Given the description of an element on the screen output the (x, y) to click on. 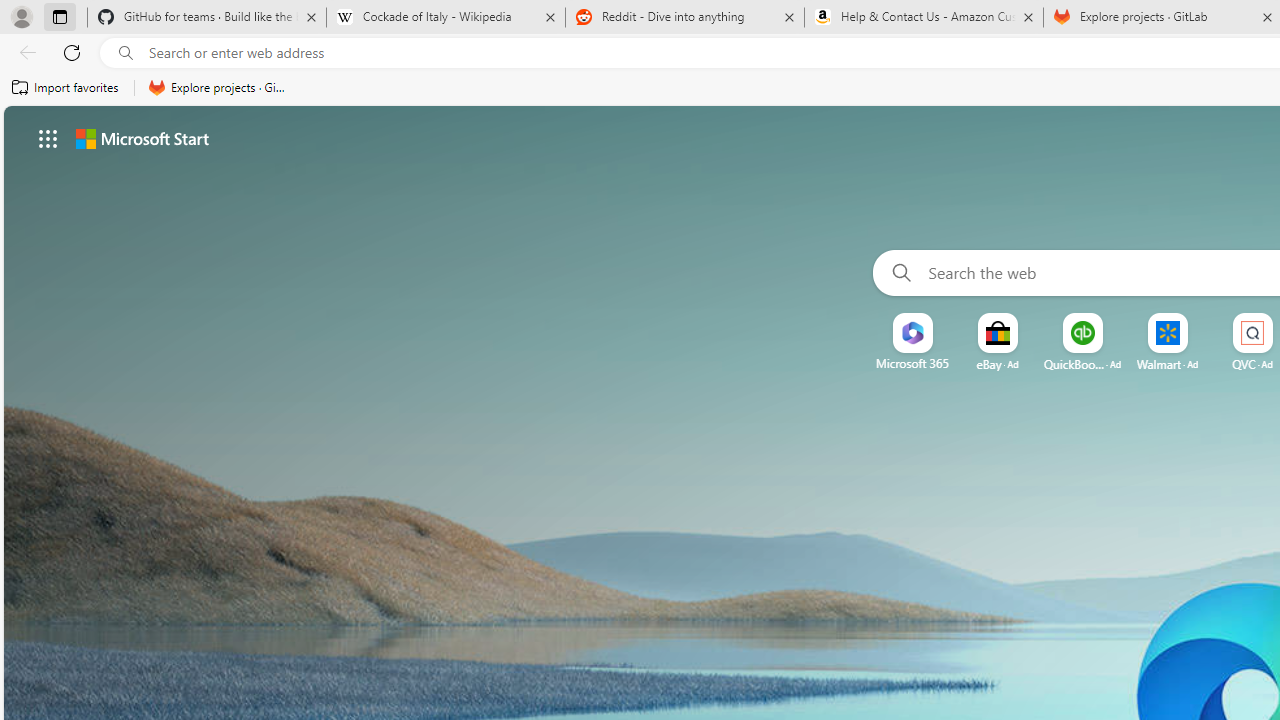
Microsoft start (142, 138)
Search icon (125, 53)
Cockade of Italy - Wikipedia (445, 17)
Search (896, 272)
To get missing image descriptions, open the context menu. (912, 333)
Import favorites (65, 88)
